Given the description of an element on the screen output the (x, y) to click on. 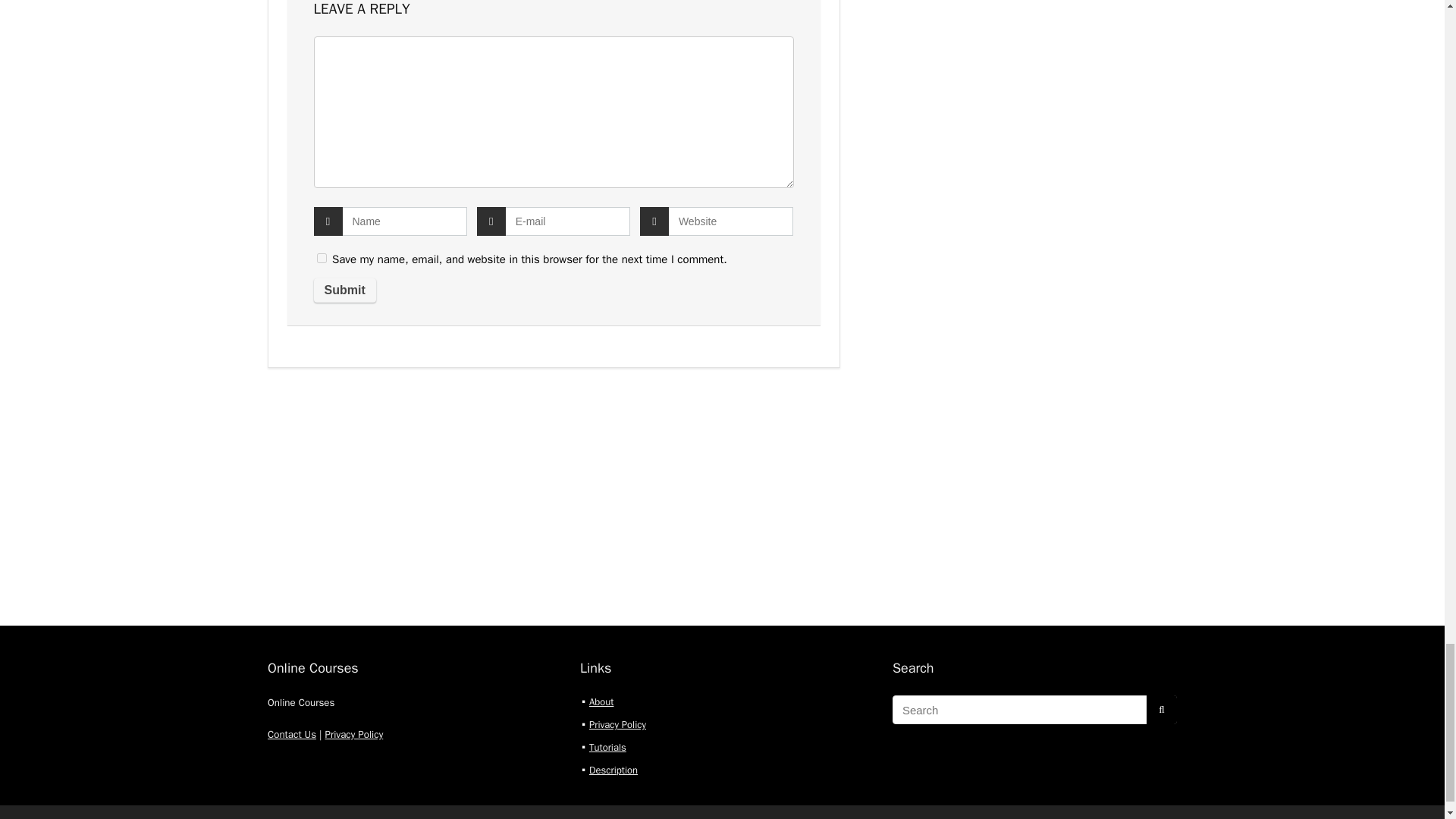
Submit (344, 290)
Submit (344, 290)
yes (321, 257)
